Given the description of an element on the screen output the (x, y) to click on. 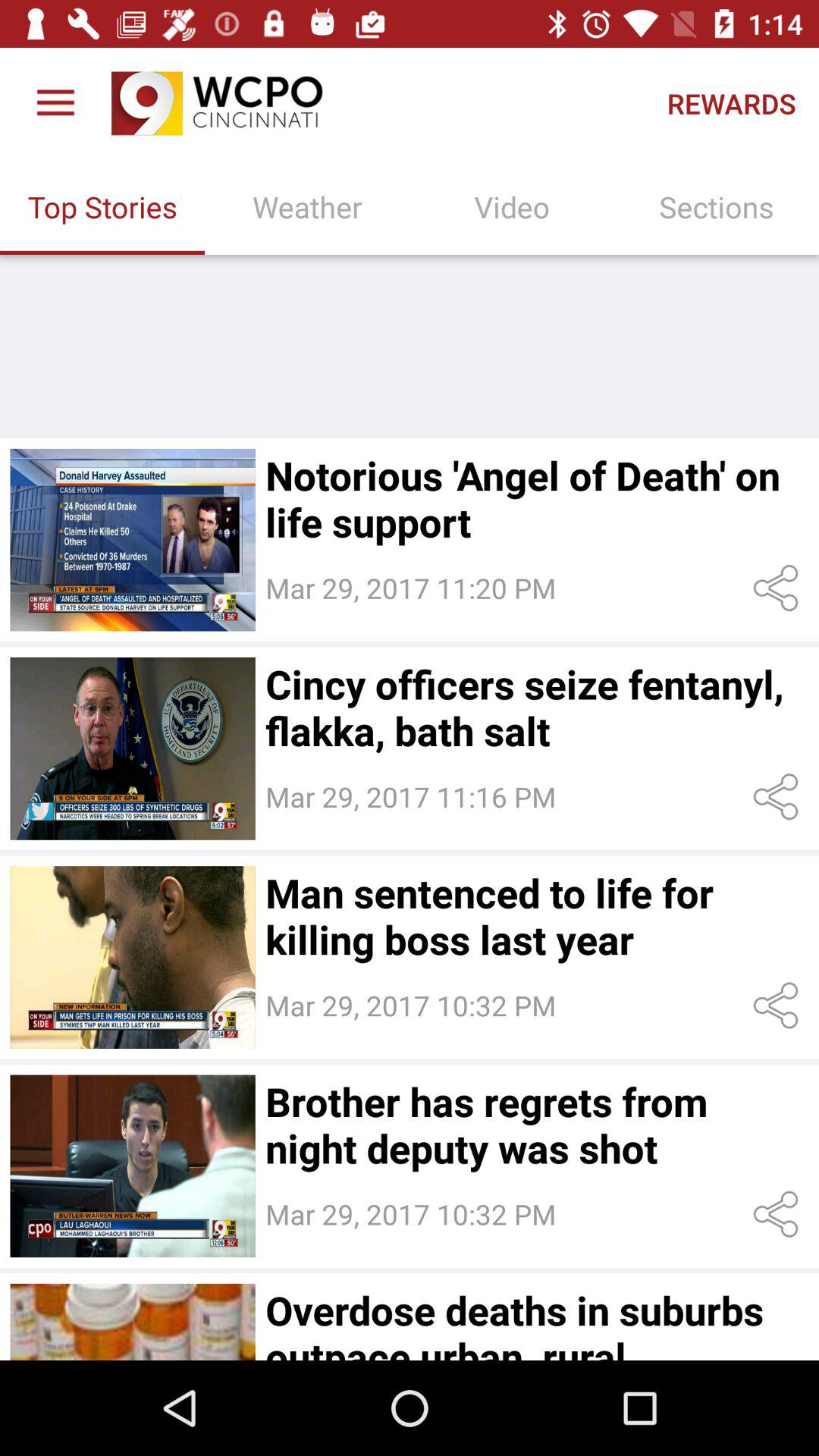
top stories (132, 539)
